Given the description of an element on the screen output the (x, y) to click on. 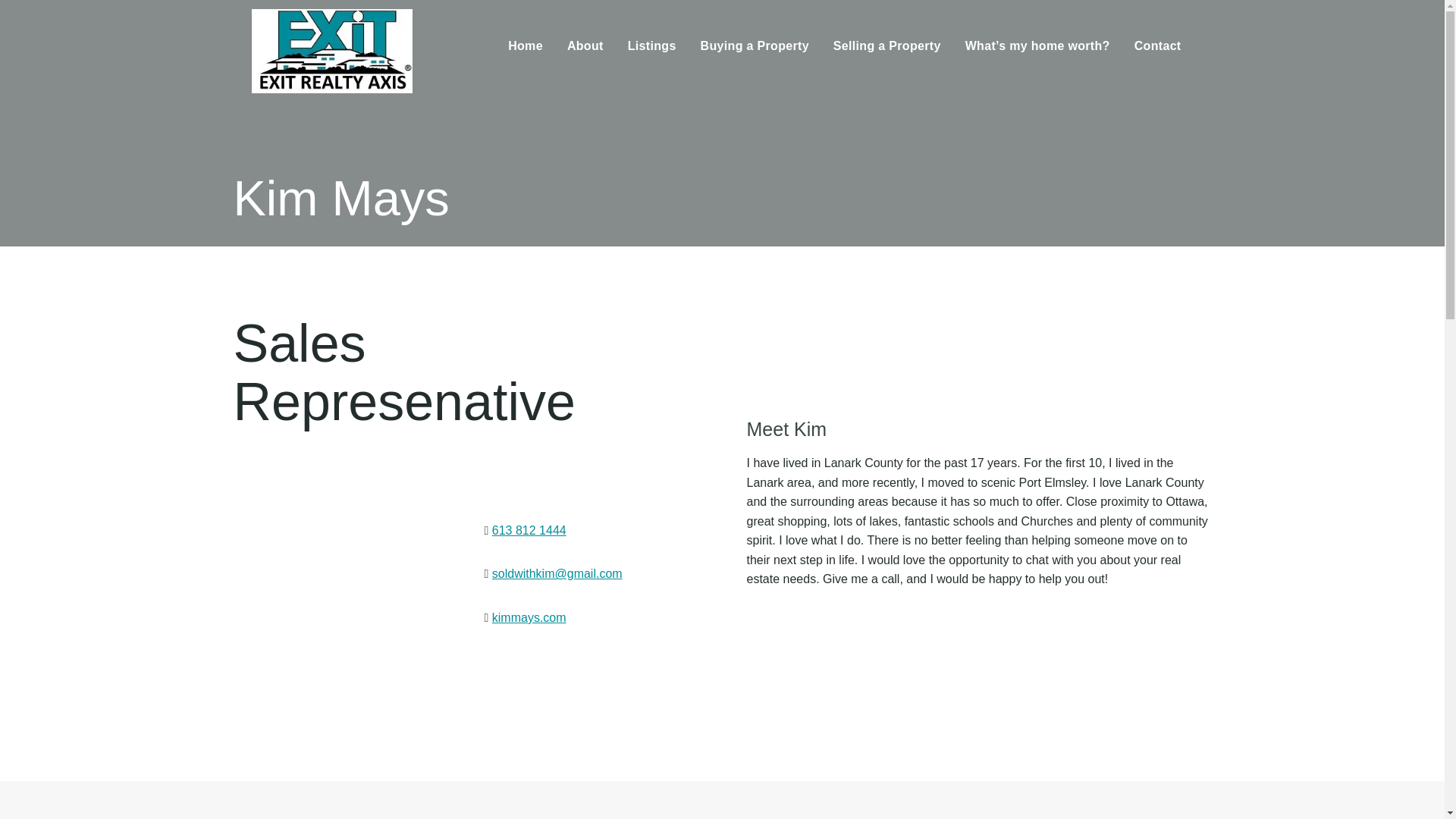
Selling a Property (887, 46)
Home (525, 46)
Listings (651, 46)
Buying a Property (754, 46)
Contact (1157, 46)
About (584, 46)
kimmays.com (529, 617)
613 812 1444 (529, 530)
